Given the description of an element on the screen output the (x, y) to click on. 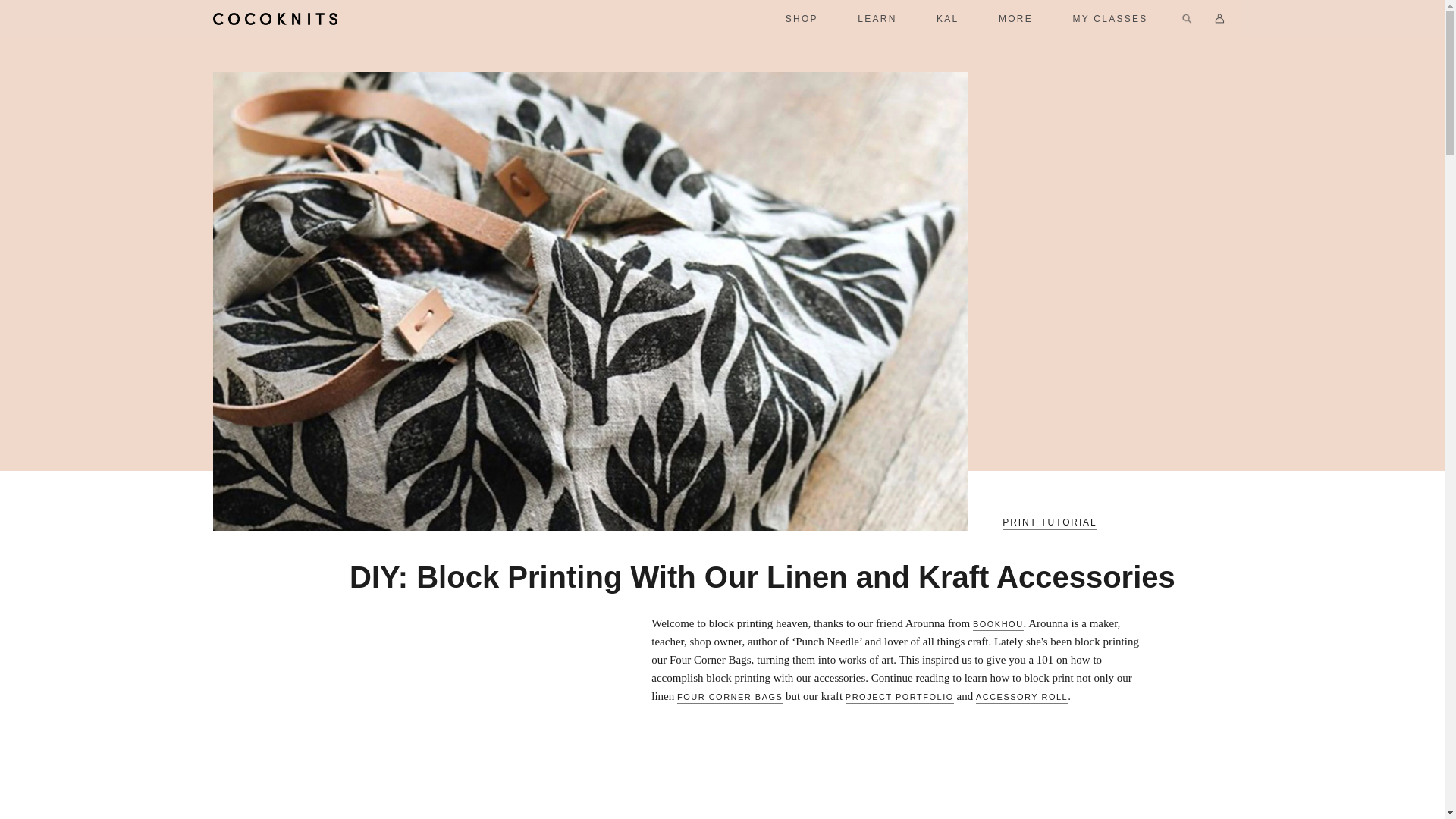
PRINT TUTORIAL (1049, 522)
Project Portfolio (899, 697)
Four Corner Bags (730, 697)
Account (1219, 18)
Bookhou (997, 624)
MORE (1015, 18)
Accessory Roll (1021, 697)
BOOKHOU (997, 624)
MY CLASSES (1109, 18)
LEARN (877, 18)
KAL (947, 18)
SHOP (801, 18)
FOUR CORNER BAGS (730, 697)
